Given the description of an element on the screen output the (x, y) to click on. 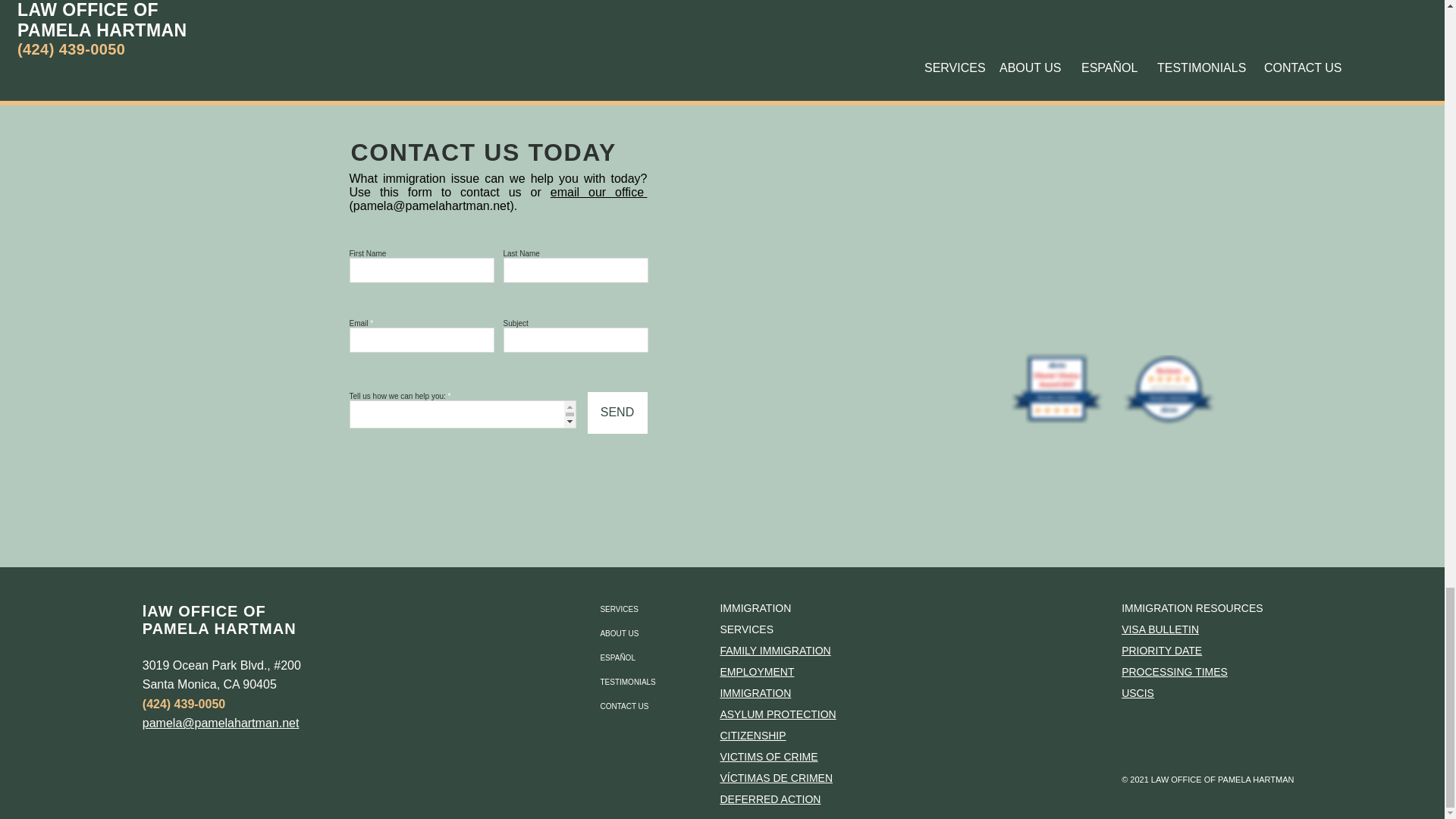
SEND (616, 413)
email our office  (598, 192)
SERVICES (651, 609)
